Given the description of an element on the screen output the (x, y) to click on. 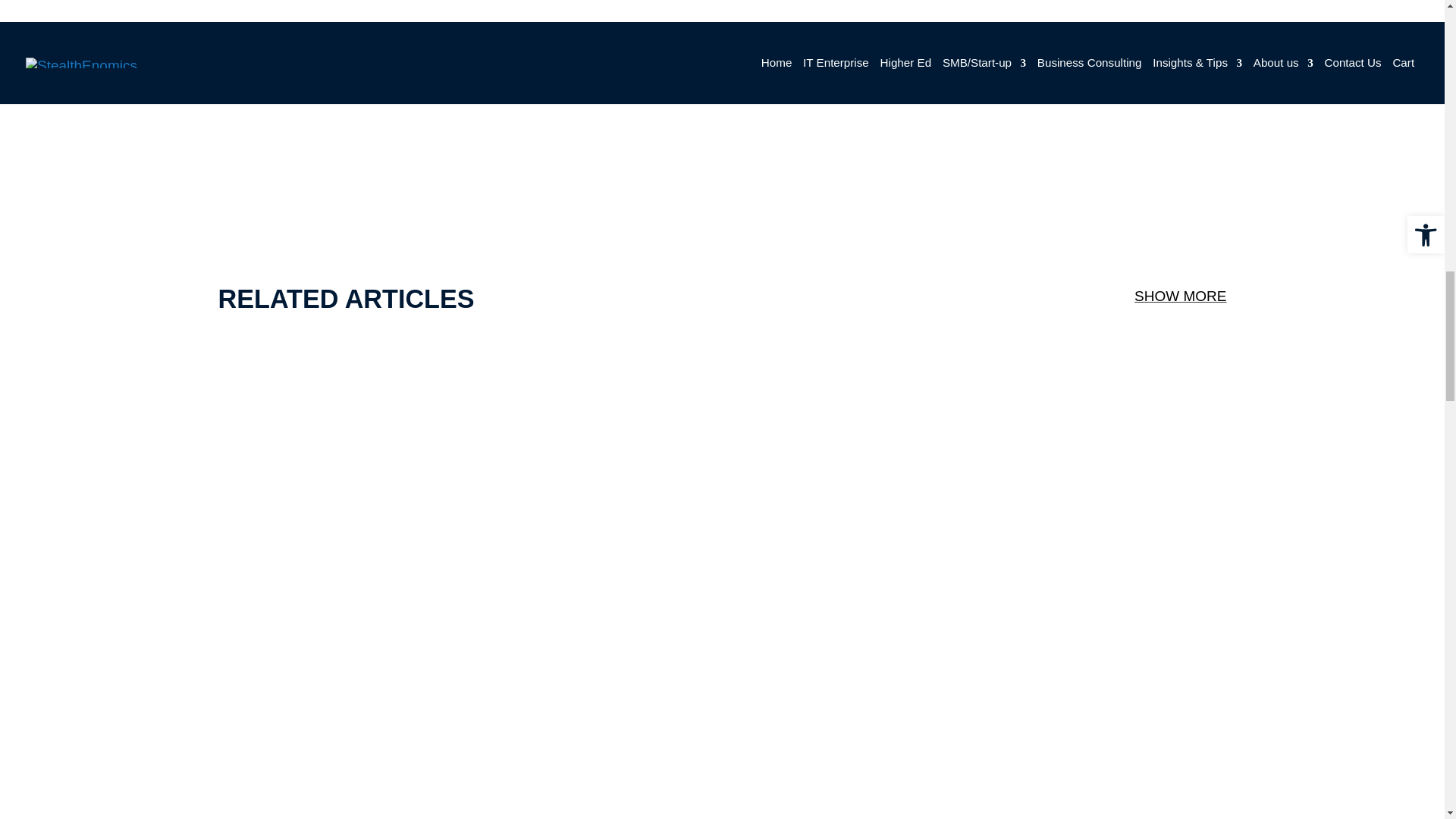
Business Plan Template ad (1179, 168)
